Given the description of an element on the screen output the (x, y) to click on. 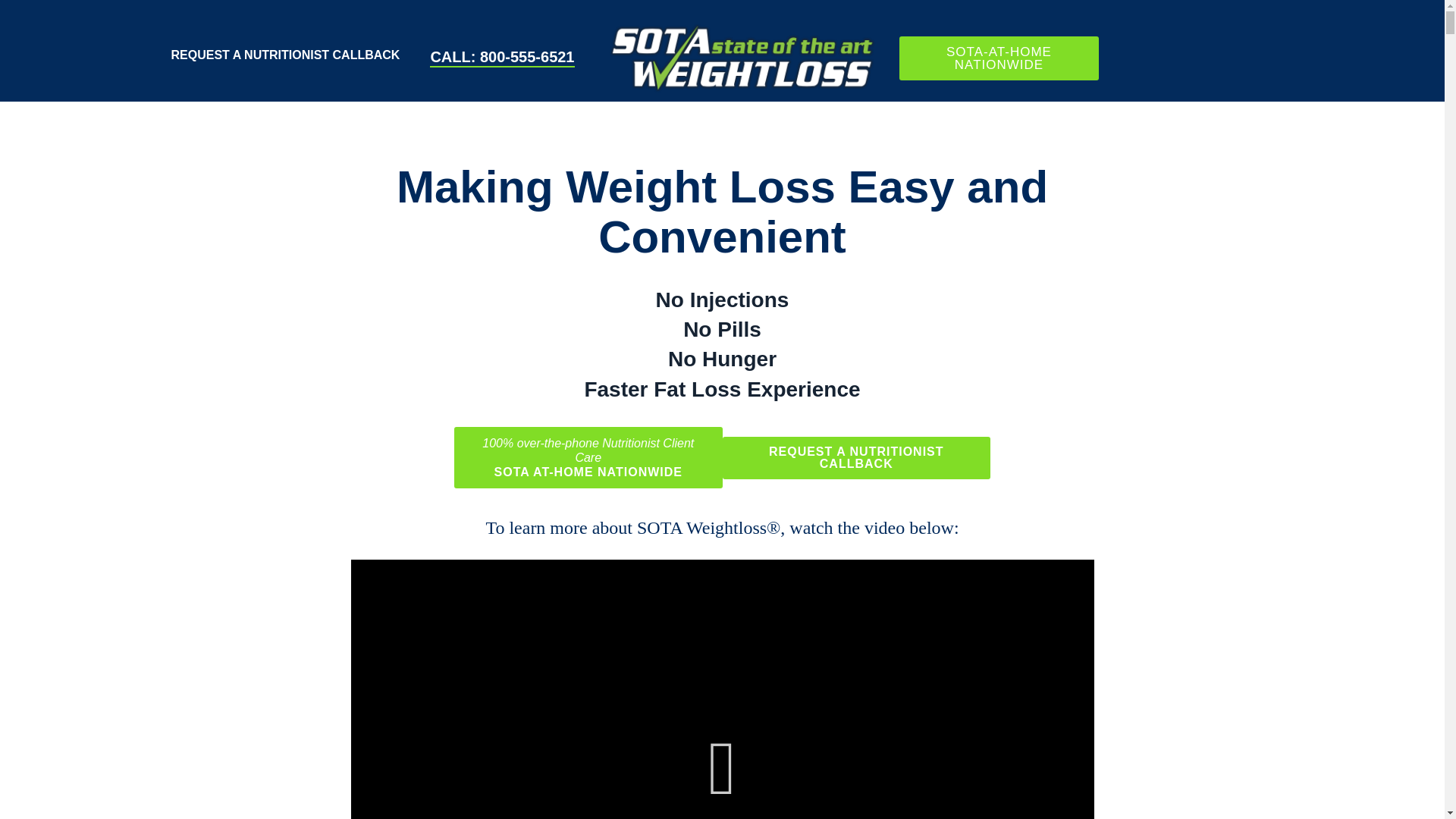
SOTA-AT-HOME NATIONWIDE (999, 58)
CALL: 800-555-6521 (501, 57)
REQUEST A NUTRITIONIST CALLBACK (856, 457)
REQUEST A NUTRITIONIST CALLBACK (284, 54)
